Given the description of an element on the screen output the (x, y) to click on. 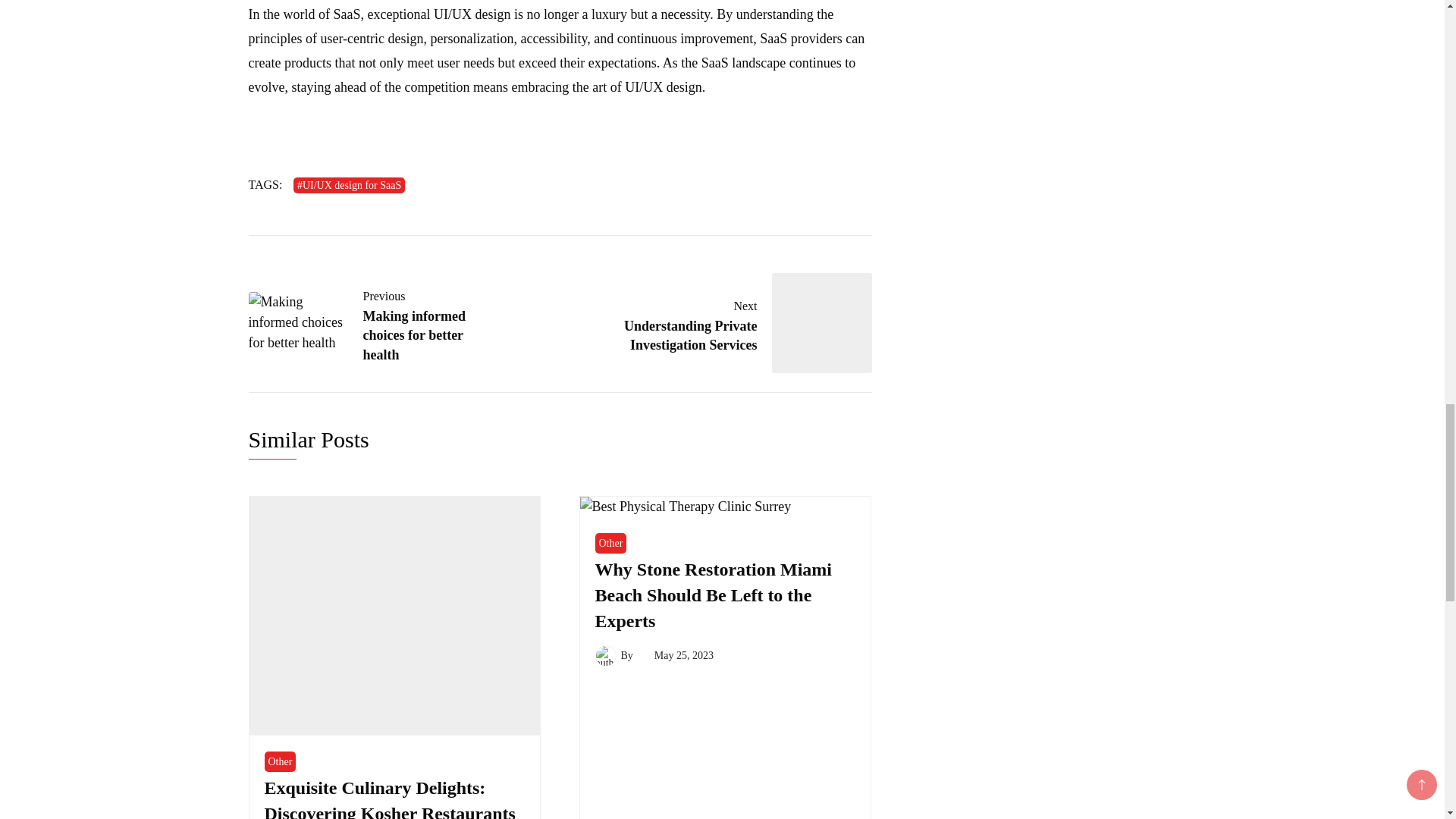
Other (279, 761)
